Given the description of an element on the screen output the (x, y) to click on. 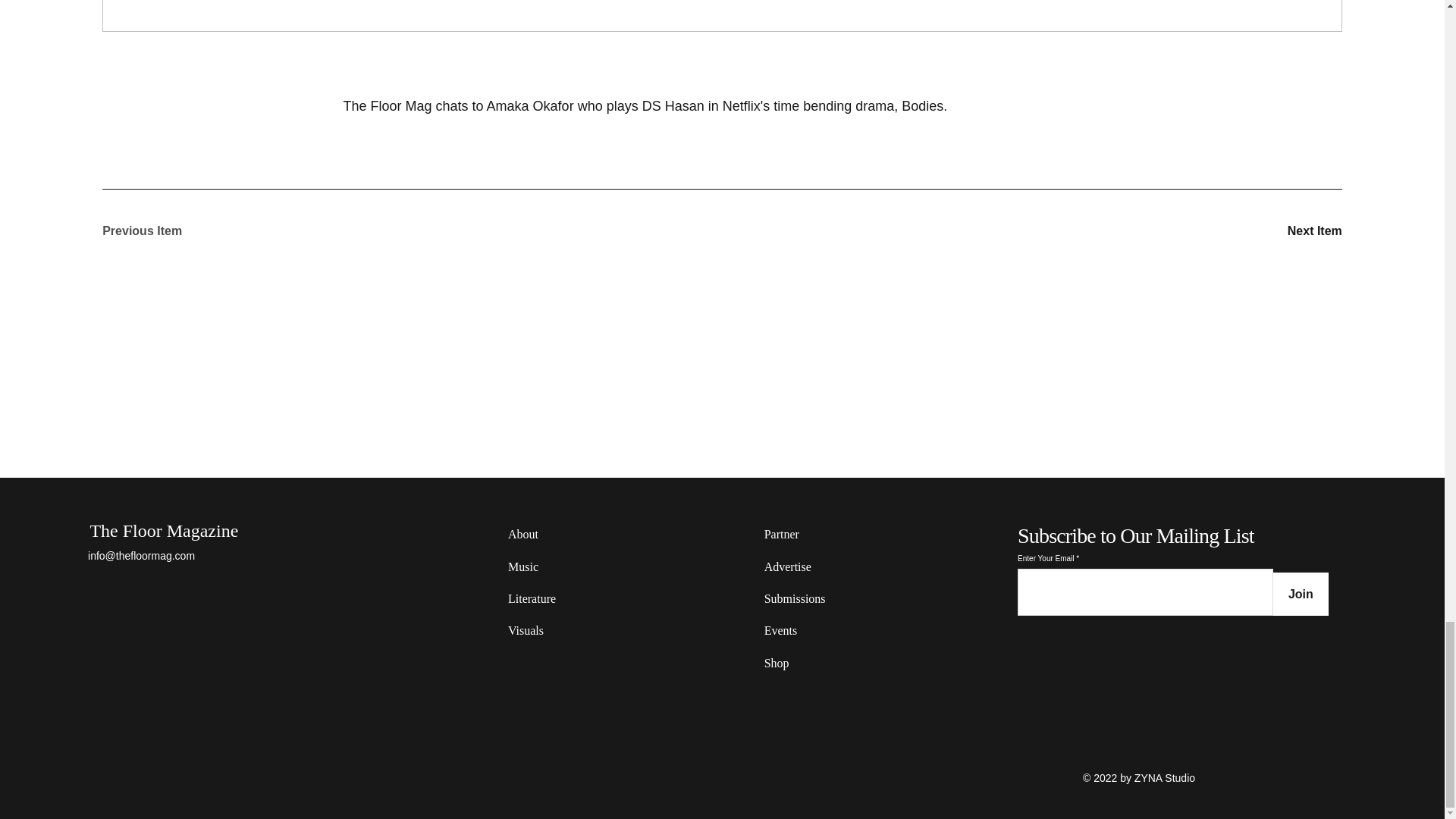
Submissions (810, 599)
ZYNA Studio (1163, 777)
Literature (554, 599)
Partner (810, 534)
Join (1299, 593)
Visuals (554, 631)
Music (554, 566)
Previous Item (155, 230)
Advertise (810, 566)
About (554, 534)
Next Item (1288, 230)
Shop (810, 663)
Events (810, 631)
